Given the description of an element on the screen output the (x, y) to click on. 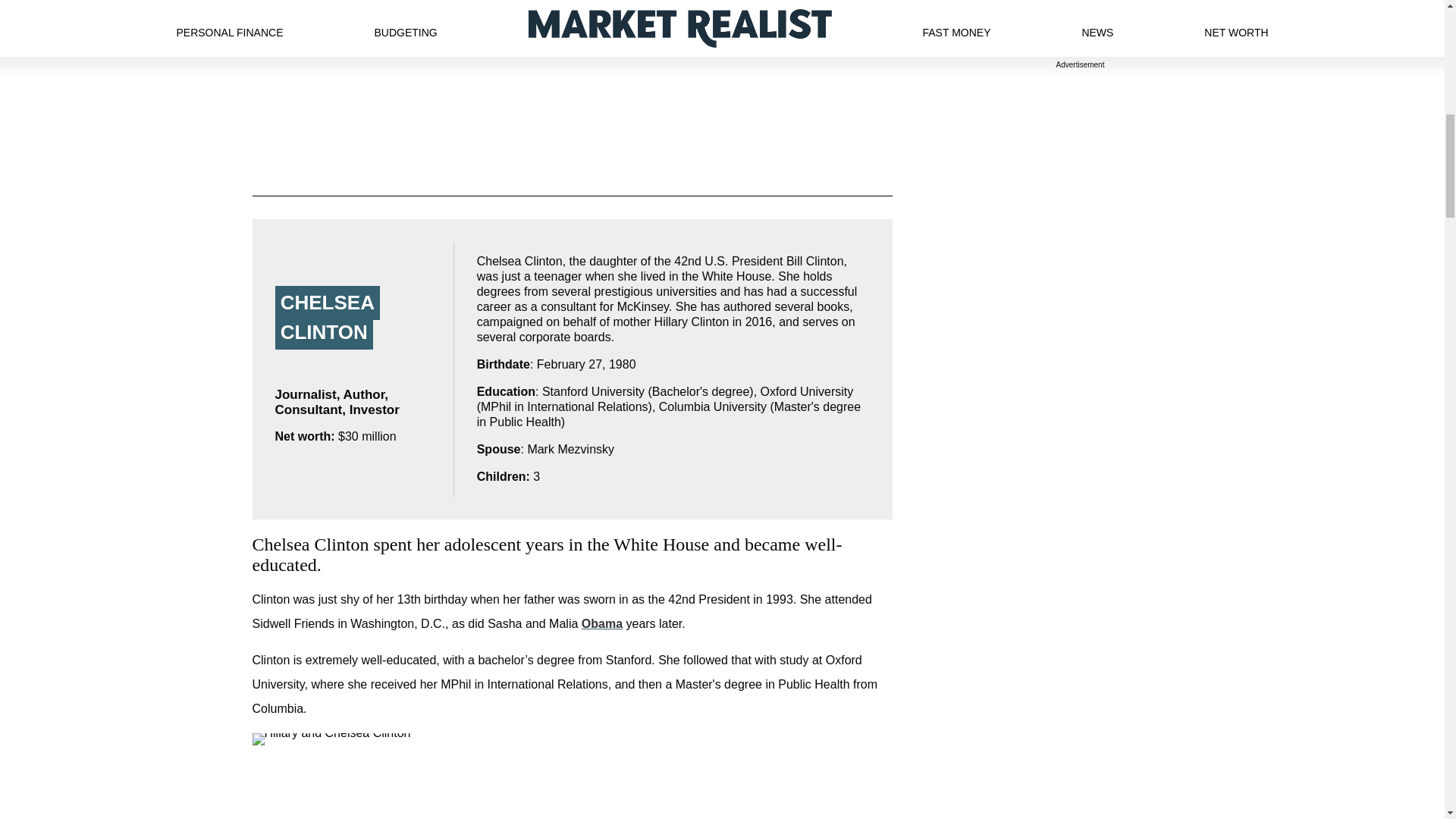
Obama (601, 623)
